Given the description of an element on the screen output the (x, y) to click on. 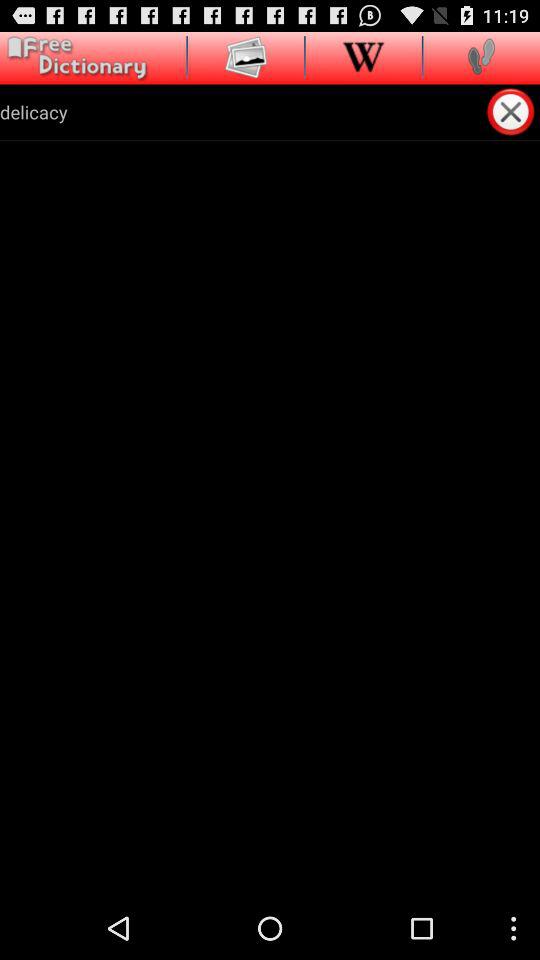
select delicacy icon (242, 111)
